Given the description of an element on the screen output the (x, y) to click on. 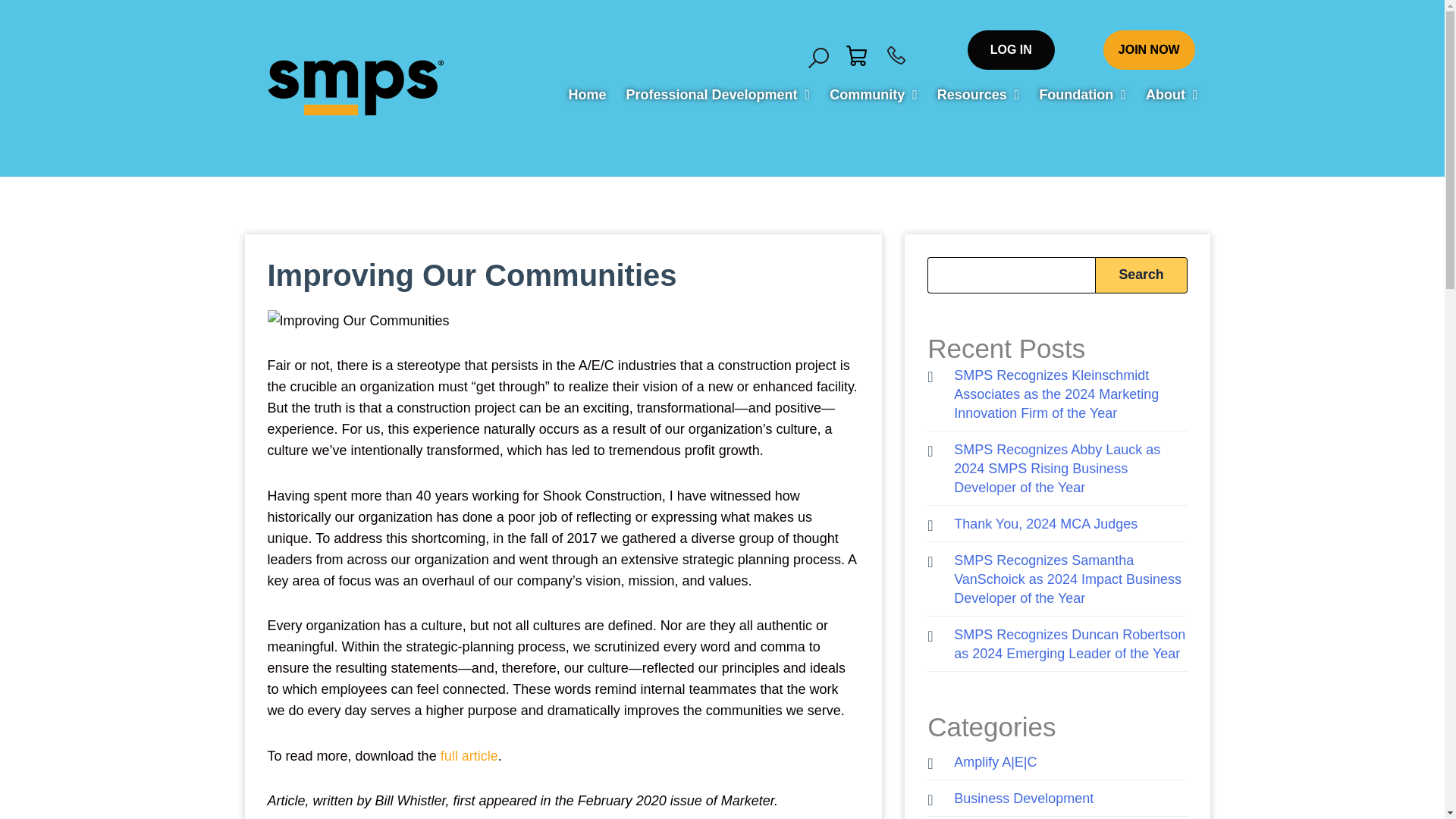
LOG IN (1011, 49)
Community (873, 94)
Home (586, 94)
JOIN NOW (1149, 49)
Professional Development (718, 94)
